Given the description of an element on the screen output the (x, y) to click on. 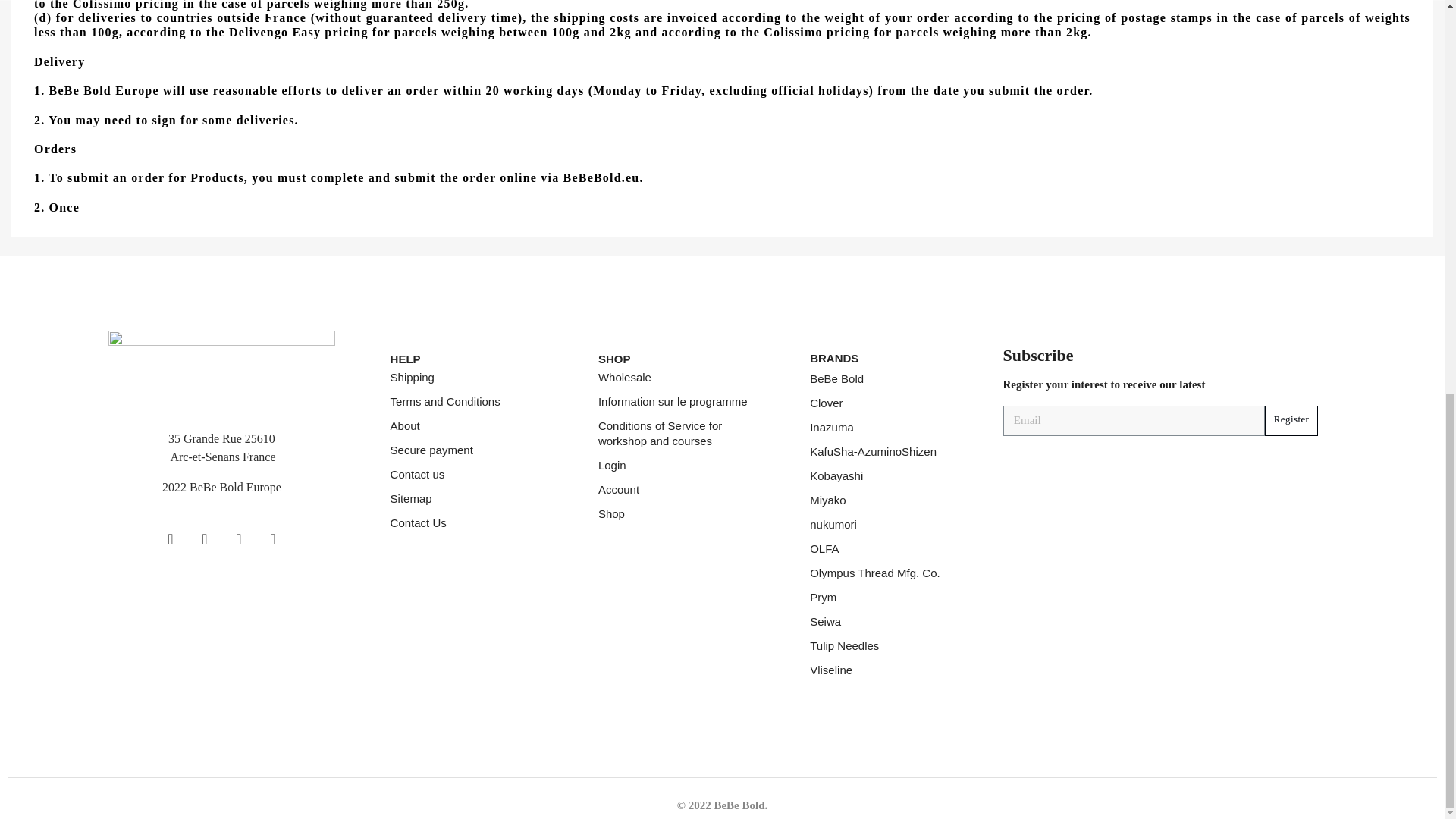
Shipping (411, 377)
Miyako (827, 500)
KafuSha-AzuminoShizen (872, 451)
Clover (826, 403)
Secure payment (431, 450)
About (405, 426)
Inazuma (831, 427)
brands (834, 358)
Program Information (673, 401)
Terms and Conditions (445, 401)
